Given the description of an element on the screen output the (x, y) to click on. 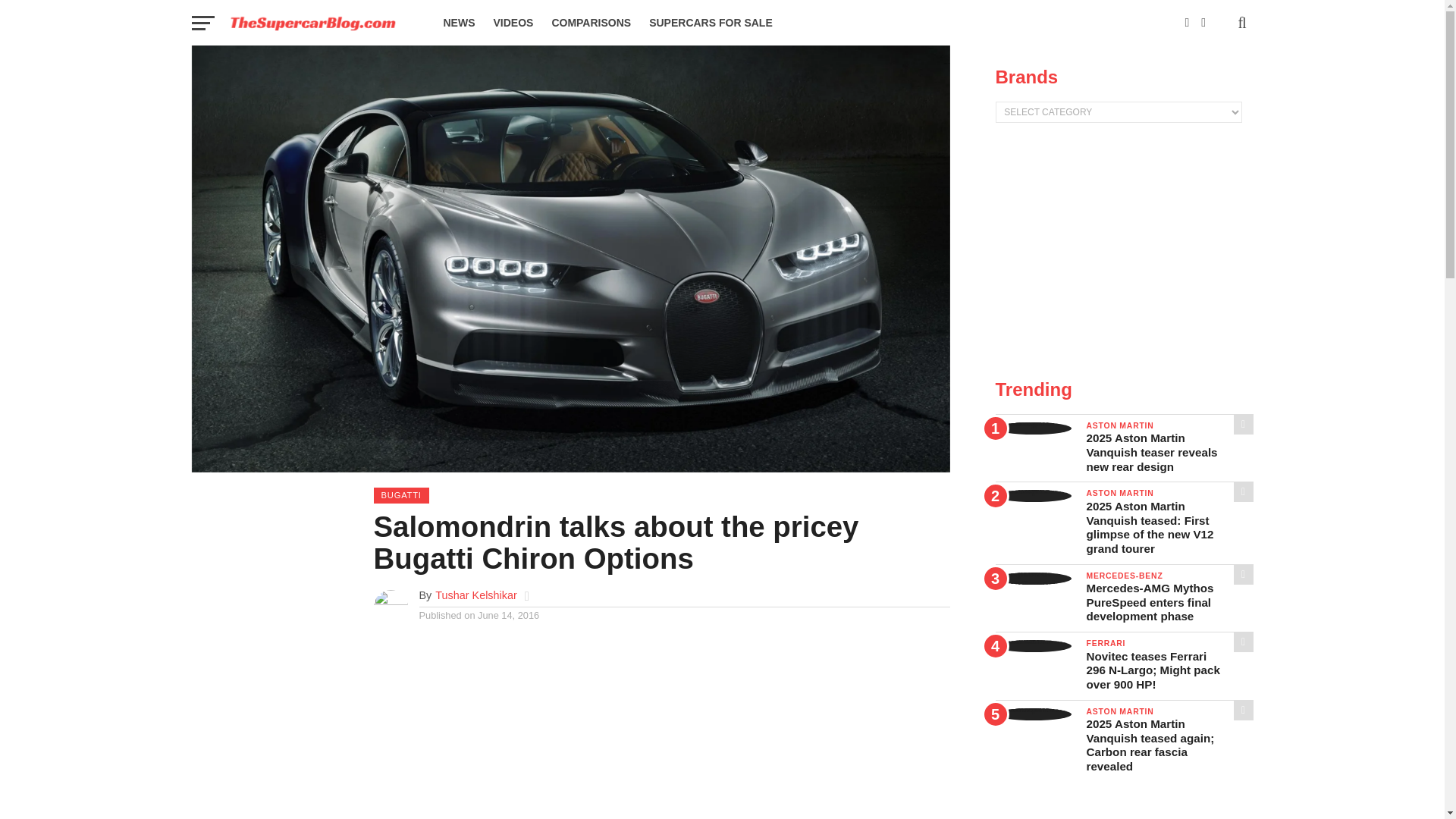
Posts by Tushar Kelshikar (475, 594)
Tushar Kelshikar (475, 594)
COMPARISONS (590, 22)
Advertisement (1123, 251)
VIDEOS (512, 22)
Advertisement (660, 729)
SUPERCARS FOR SALE (710, 22)
NEWS (458, 22)
